Given the description of an element on the screen output the (x, y) to click on. 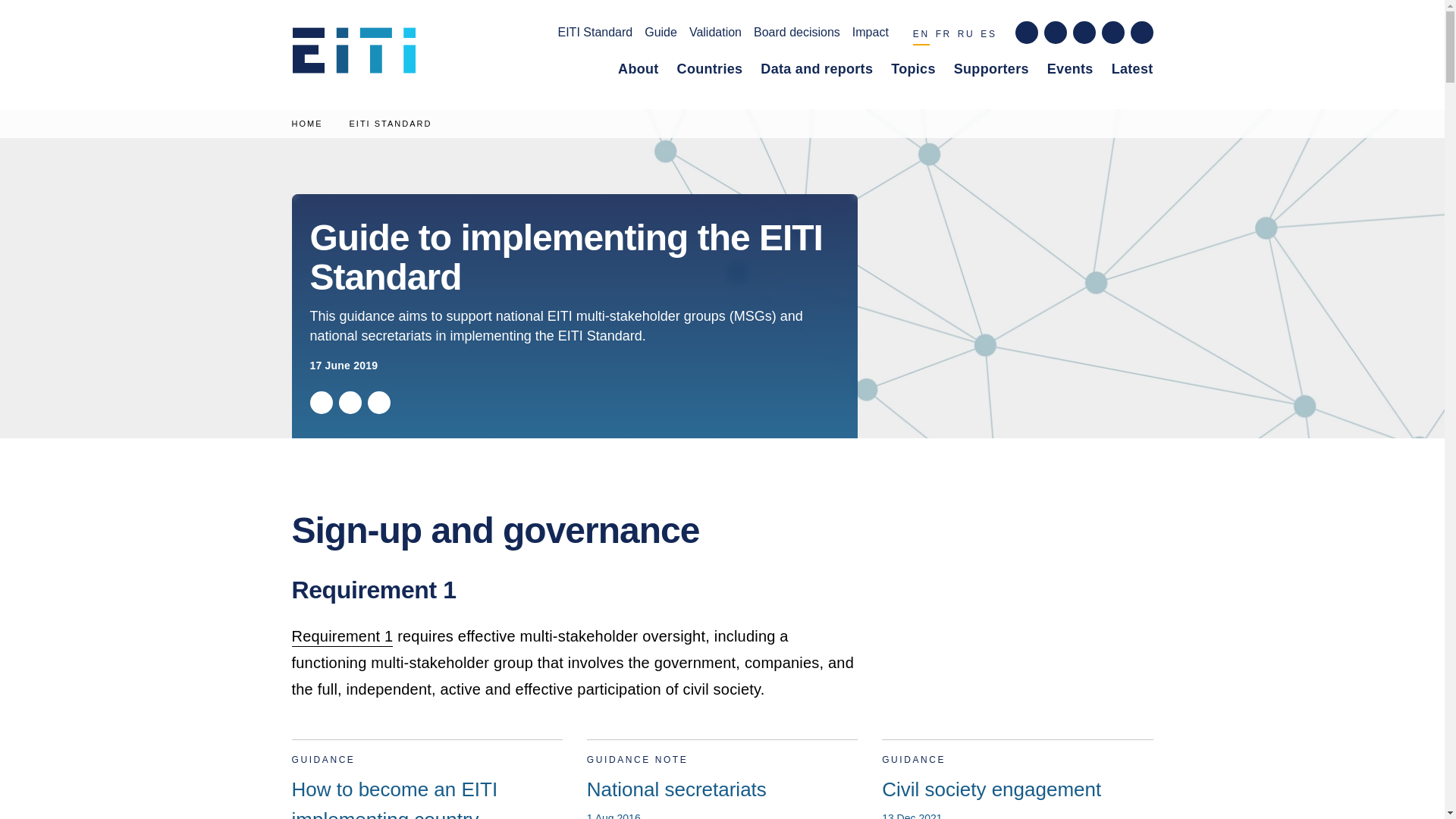
Follow us on Linkedin (1082, 32)
Countries (709, 71)
National secretariats (721, 779)
About (638, 71)
Return to the homepage (358, 55)
Find us on Facebook (1025, 32)
Find us on YouTube (1112, 32)
Board decisions (797, 35)
Linkedin (378, 402)
Twitter (319, 402)
